Given the description of an element on the screen output the (x, y) to click on. 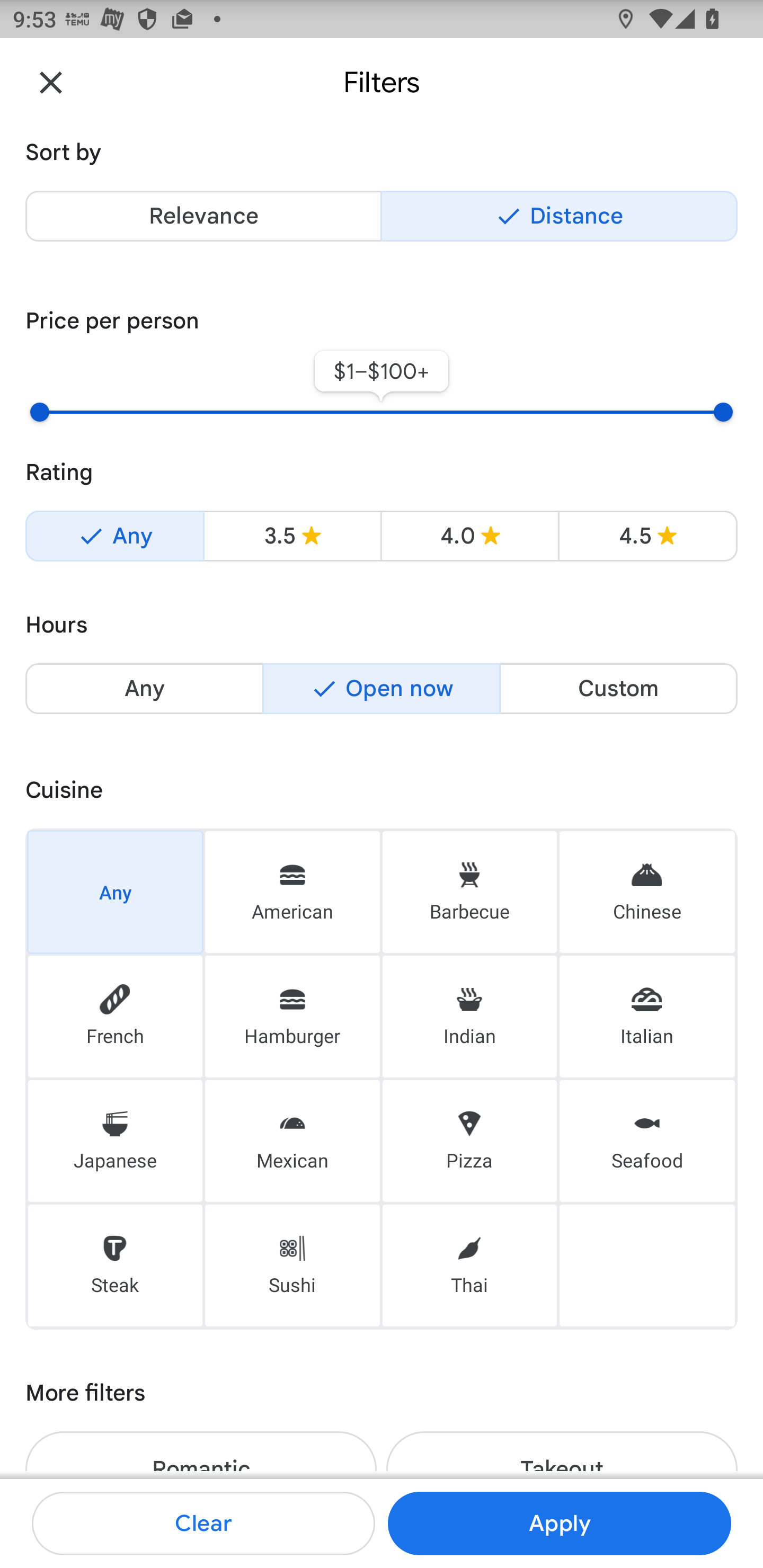
Close menu (50, 81)
Relevance (203, 216)
Distance (558, 216)
Any (114, 535)
3.5 stars (292, 535)
4.0 stars (469, 535)
4.5 stars (647, 535)
Any (144, 688)
Open now (381, 688)
Custom (618, 688)
Any (114, 891)
American (291, 891)
Barbecue (469, 891)
Chinese (647, 891)
French (114, 1016)
Hamburger (291, 1016)
Indian (469, 1016)
Italian (647, 1016)
Japanese (114, 1140)
Mexican (291, 1140)
Pizza (469, 1140)
Seafood (647, 1140)
Steak (114, 1266)
Sushi (291, 1266)
Thai (469, 1266)
Clear Clear Clear (203, 1522)
Apply Apply Apply (558, 1522)
